Given the description of an element on the screen output the (x, y) to click on. 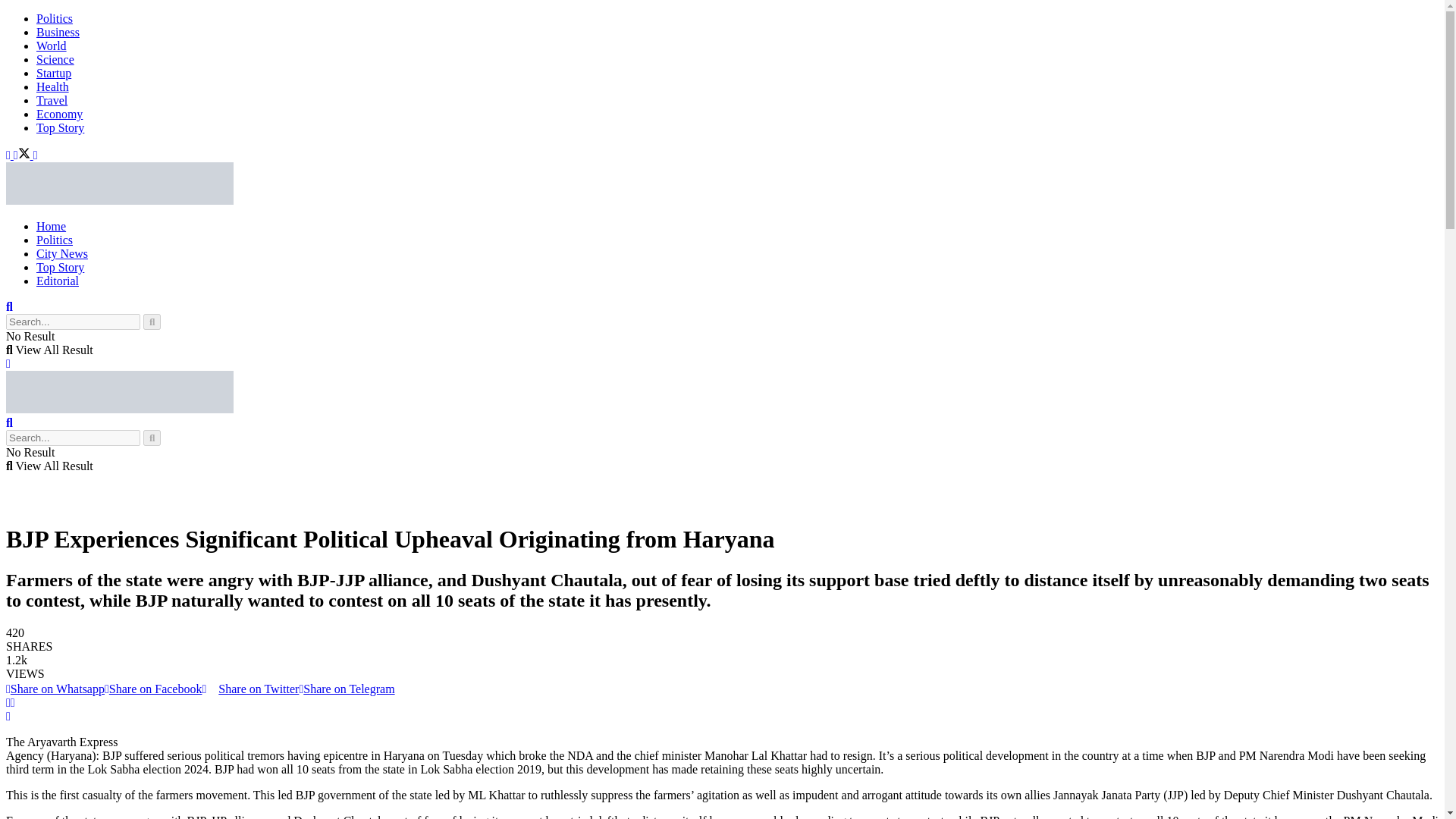
Share on Whatsapp (54, 688)
Politics (54, 239)
Politics (54, 18)
Share on Twitter (250, 688)
World (51, 45)
Travel (51, 100)
Economy (59, 113)
Health (52, 86)
Editorial (57, 280)
Share on Facebook (153, 688)
